Given the description of an element on the screen output the (x, y) to click on. 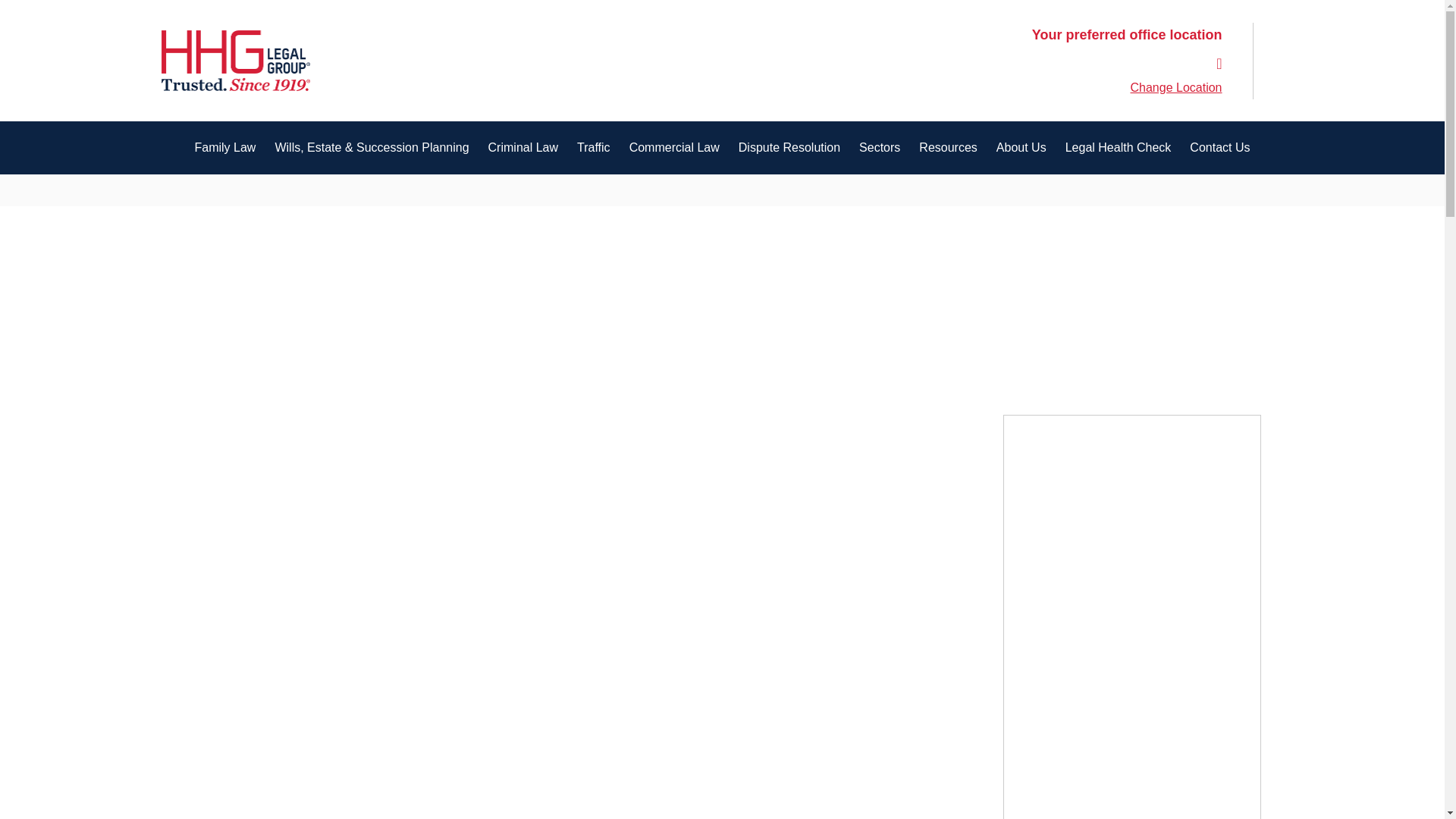
Criminal Law (523, 147)
Family Law (224, 147)
Commercial Law (673, 147)
Traffic (593, 147)
Change Location (1177, 88)
